Given the description of an element on the screen output the (x, y) to click on. 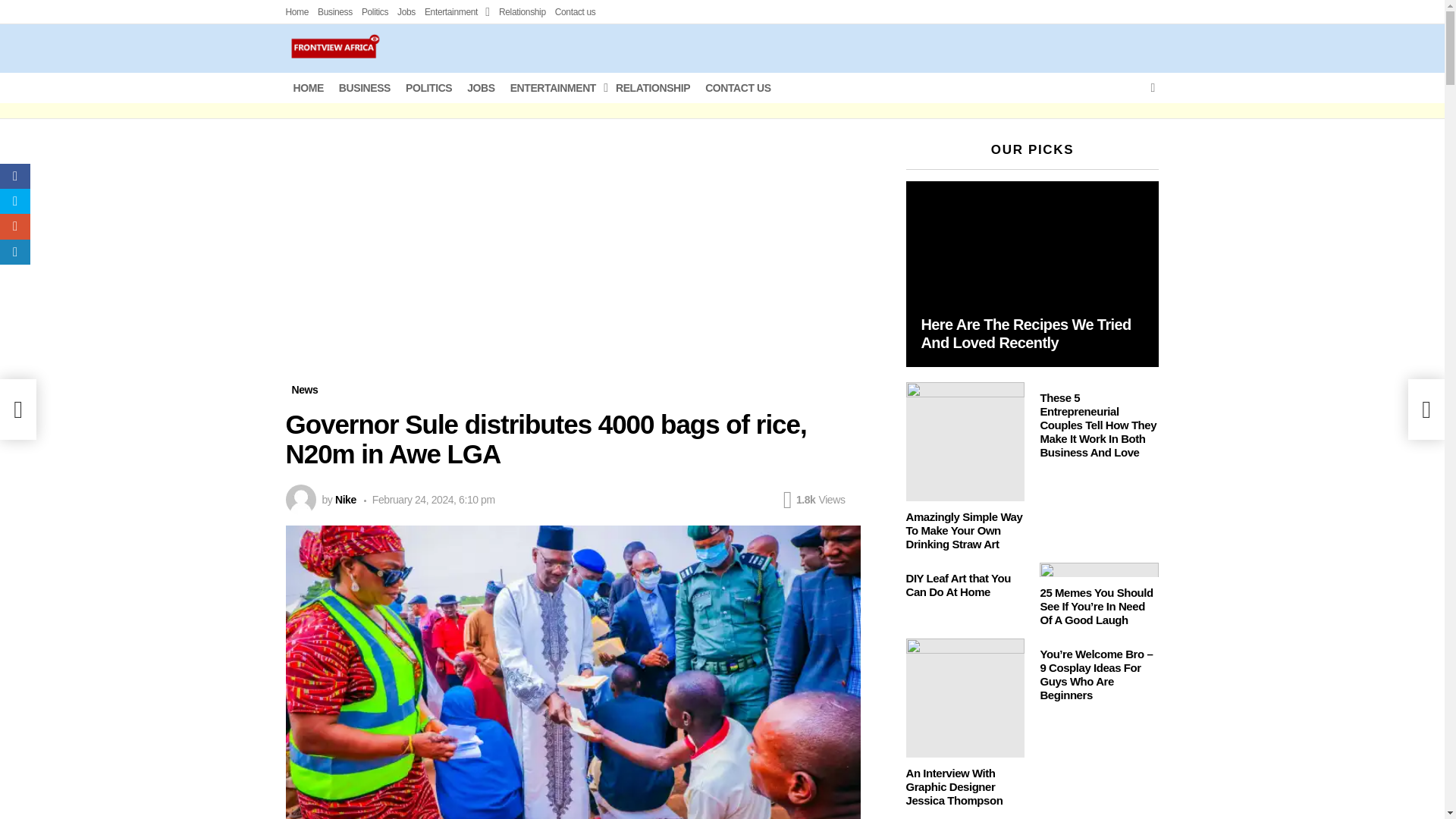
ENTERTAINMENT (555, 87)
RELATIONSHIP (652, 87)
Contact us (574, 12)
HOME (307, 87)
Business (334, 12)
News (304, 389)
Entertainment (457, 12)
Relationship (522, 12)
Politics (374, 12)
Nike (345, 499)
Home (296, 12)
CONTACT US (737, 87)
JOBS (481, 87)
BUSINESS (364, 87)
Posts by Nike (345, 499)
